Given the description of an element on the screen output the (x, y) to click on. 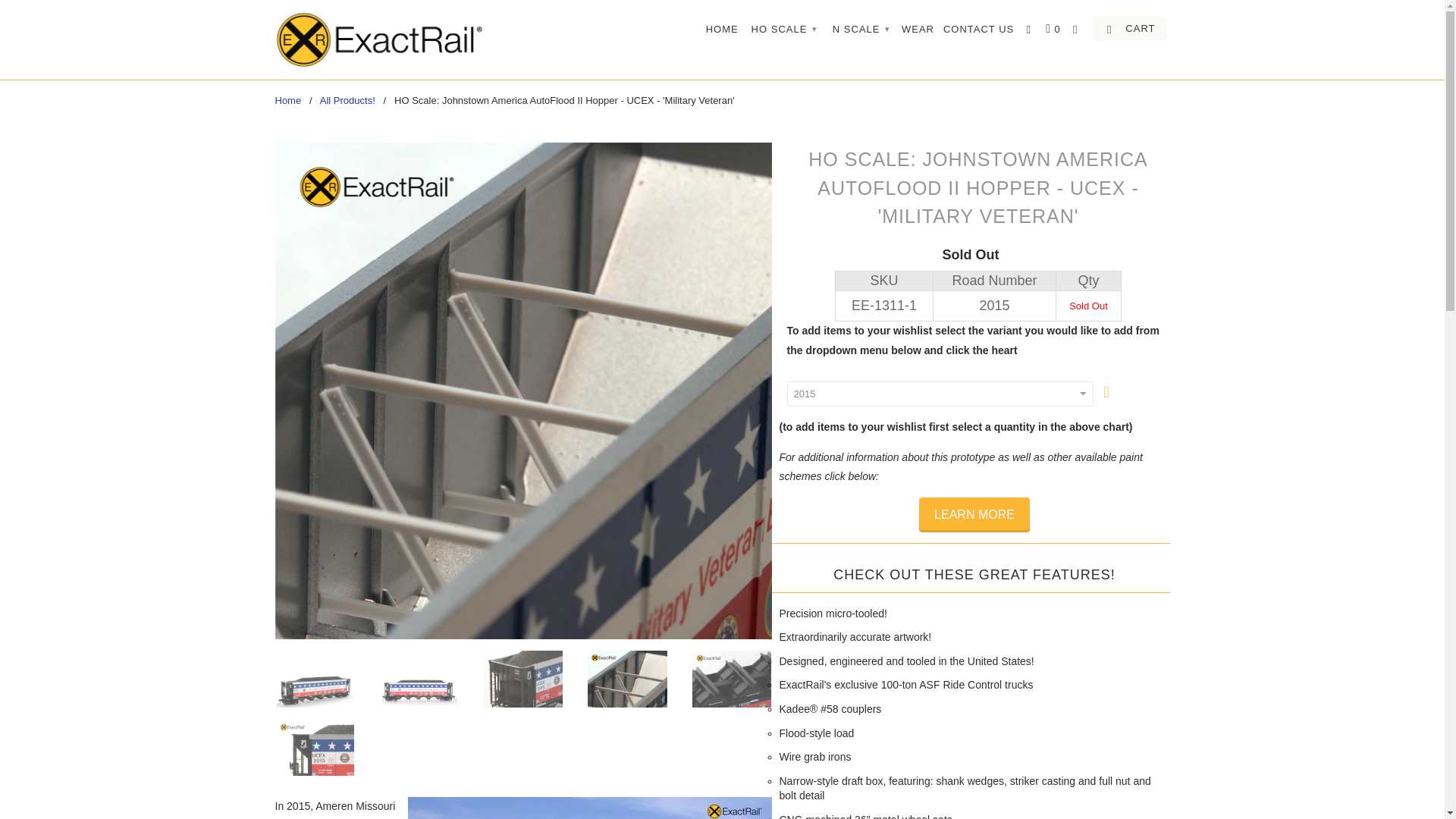
All Products! (347, 100)
ExactRail Model Trains (288, 100)
Home (288, 100)
All Products! (347, 100)
